Given the description of an element on the screen output the (x, y) to click on. 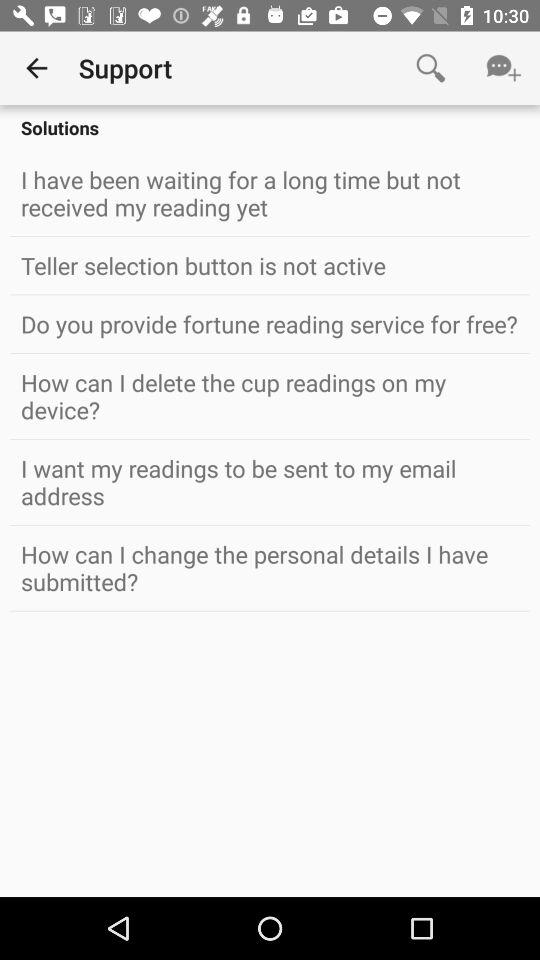
turn on the icon above the do you provide icon (269, 265)
